Given the description of an element on the screen output the (x, y) to click on. 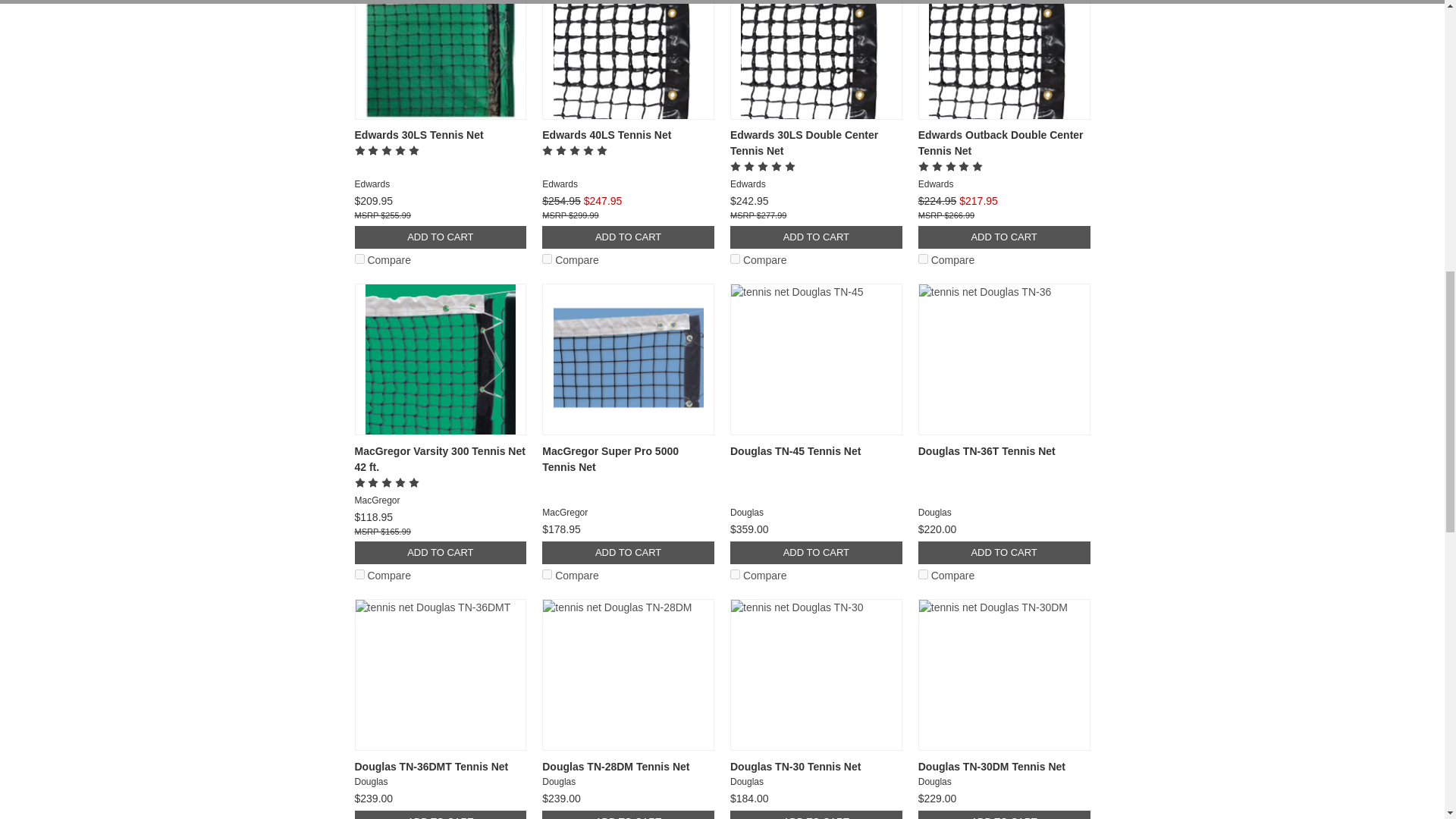
39 (734, 258)
tennis net Edwards 30LS (440, 58)
36 (923, 258)
38 (546, 258)
ADD TO CART (441, 237)
454 (734, 574)
Tennis Net Edwards 40LS Double Center (628, 58)
459 (923, 574)
Tennis Net MacGregor Varsity 300 (440, 359)
tennis net Douglas TN-36 (1003, 359)
